Given the description of an element on the screen output the (x, y) to click on. 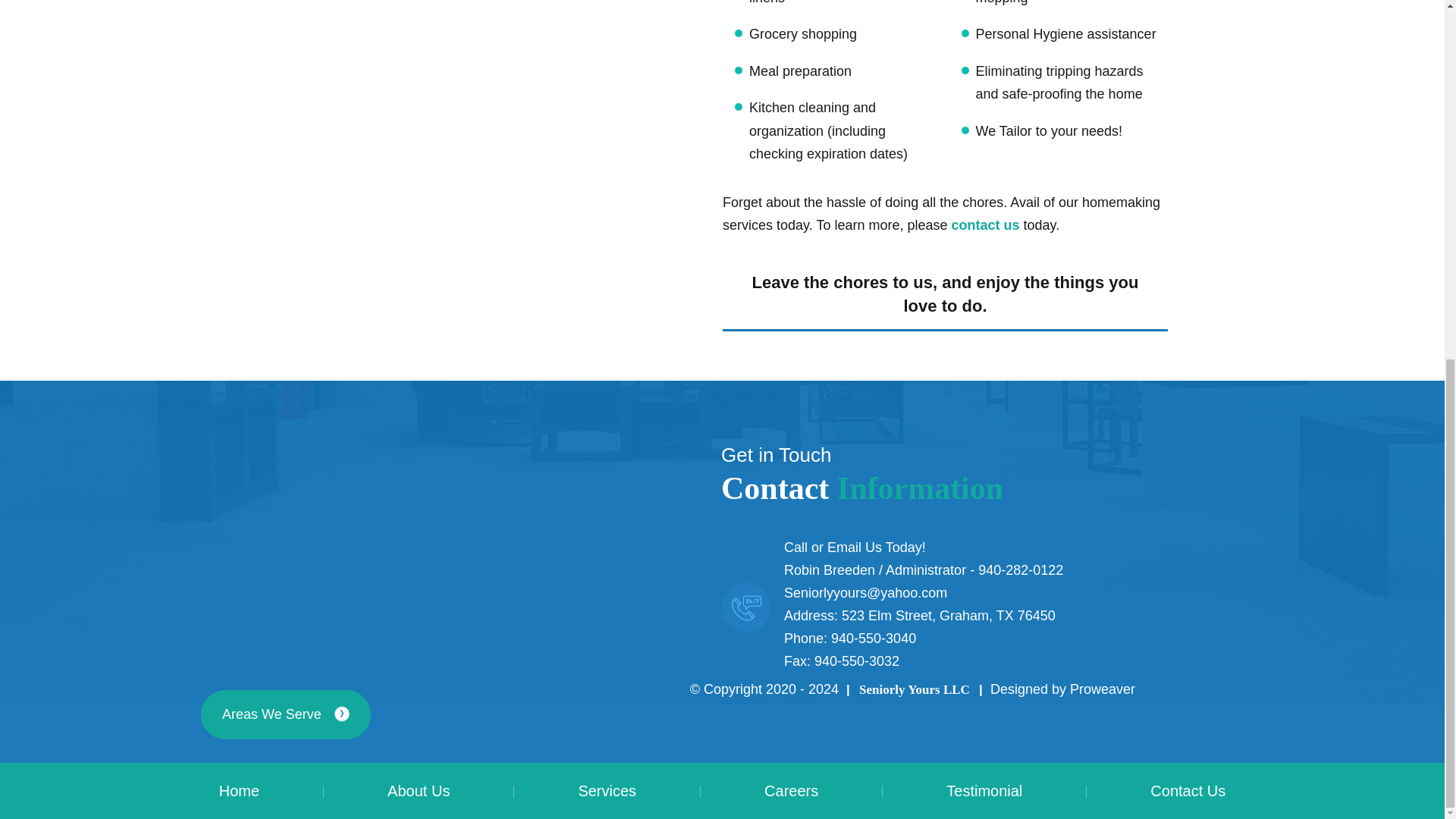
Areas We Serve (285, 714)
Proweaver (1102, 688)
contact us (984, 224)
